Given the description of an element on the screen output the (x, y) to click on. 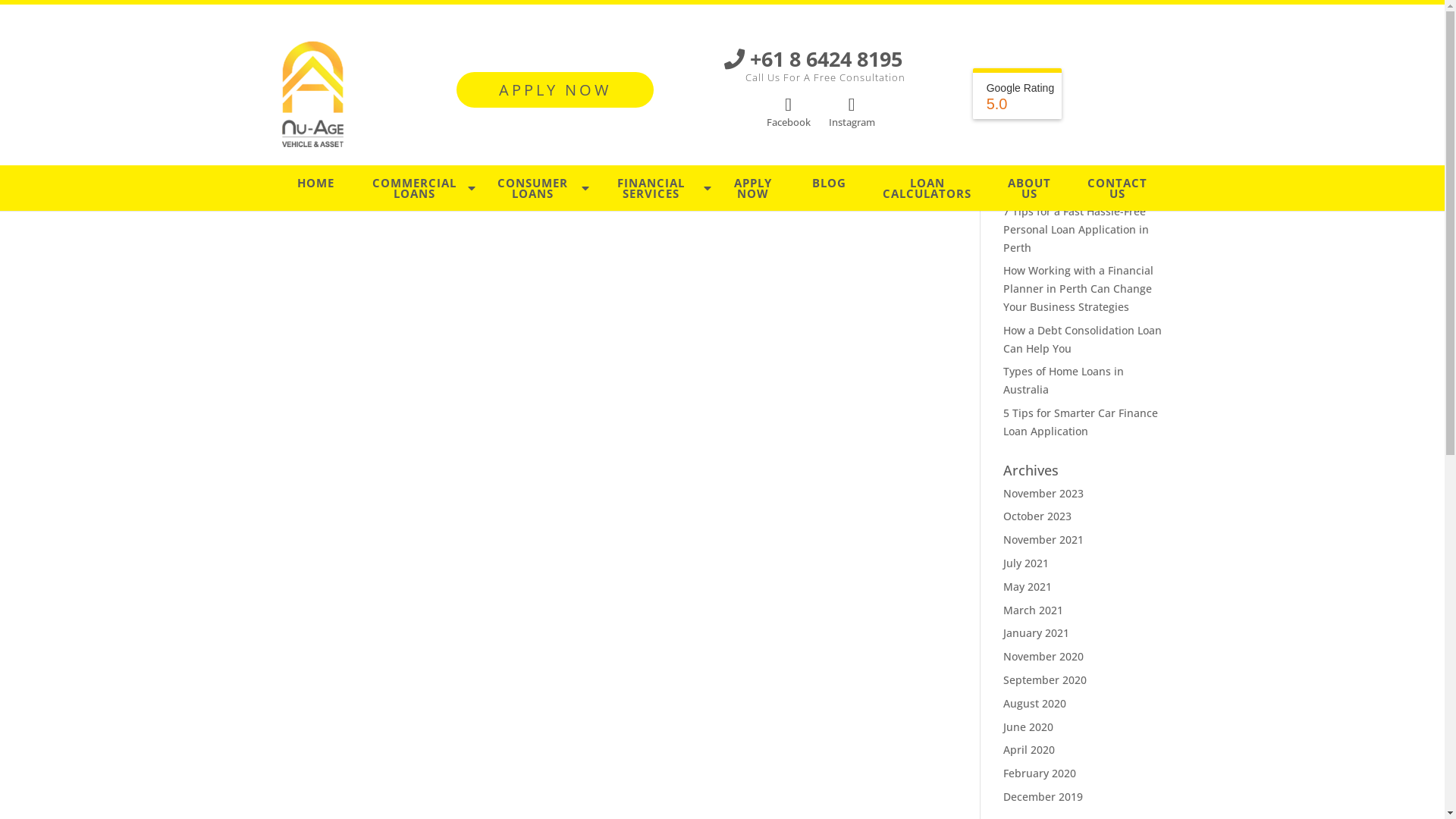
January 2021 Element type: text (1036, 632)
February 2020 Element type: text (1039, 772)
5 Tips for Smarter Car Finance Loan Application Element type: text (1080, 421)
August 2020 Element type: text (1034, 703)
November 2020 Element type: text (1043, 656)
ABOUT US Element type: text (1029, 187)
LOAN CALCULATORS Element type: text (926, 187)
December 2019 Element type: text (1042, 796)
November 2021 Element type: text (1043, 539)
October 2023 Element type: text (1037, 515)
Instagram Element type: text (851, 112)
CONSUMER LOANS Element type: text (532, 187)
Types of Home Loans in Australia Element type: text (1063, 380)
March 2021 Element type: text (1033, 609)
May 2021 Element type: text (1027, 586)
November 2023 Element type: text (1043, 493)
CONTACT US Element type: text (1117, 187)
July 2021 Element type: text (1025, 562)
BLOG Element type: text (828, 182)
September 2020 Element type: text (1044, 679)
Search Element type: text (1140, 143)
+61 8 6424 8195 Element type: text (813, 58)
June 2020 Element type: text (1028, 726)
How a Debt Consolidation Loan Can Help You Element type: text (1082, 339)
APPLY NOW Element type: text (752, 187)
COMMERCIAL LOANS Element type: text (413, 187)
FINANCIAL SERVICES Element type: text (650, 187)
APPLY NOW Element type: text (554, 89)
April 2020 Element type: text (1028, 749)
HOME Element type: text (315, 182)
Facebook Element type: text (788, 112)
